Given the description of an element on the screen output the (x, y) to click on. 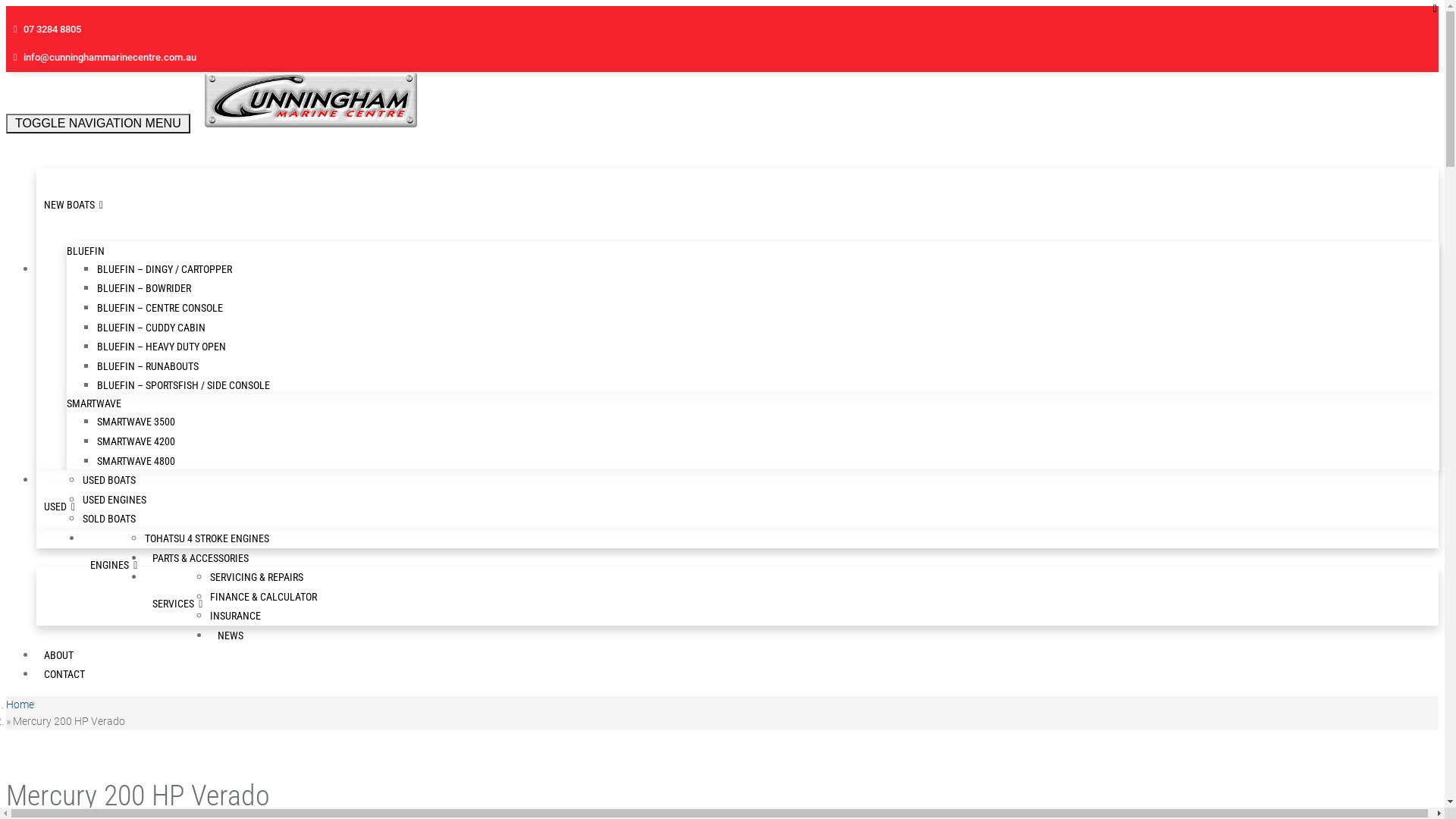
INSURANCE Element type: text (235, 615)
NEWS Element type: text (230, 635)
SMARTWAVE 3500 Element type: text (136, 421)
BLUEFIN Element type: text (753, 250)
USED Element type: text (52, 506)
SMARTWAVE Element type: text (753, 403)
SOLD BOATS Element type: text (108, 518)
SMARTWAVE 4200 Element type: text (136, 441)
ABOUT Element type: text (58, 655)
TOHATSU 4 STROKE ENGINES Element type: text (206, 538)
PARTS & ACCESSORIES Element type: text (200, 558)
ENGINES Element type: text (106, 564)
TOGGLE NAVIGATION MENU Element type: text (98, 123)
info@cunninghammarinecentre.com.au Element type: text (109, 56)
CONTACT Element type: text (64, 674)
SMARTWAVE 4800 Element type: text (136, 461)
USED ENGINES Element type: text (114, 499)
NEW BOATS Element type: text (66, 204)
FINANCE & CALCULATOR Element type: text (263, 596)
SERVICING & REPAIRS Element type: text (256, 577)
SERVICES Element type: text (170, 603)
Home Element type: text (20, 704)
USED BOATS Element type: text (108, 479)
